Given the description of an element on the screen output the (x, y) to click on. 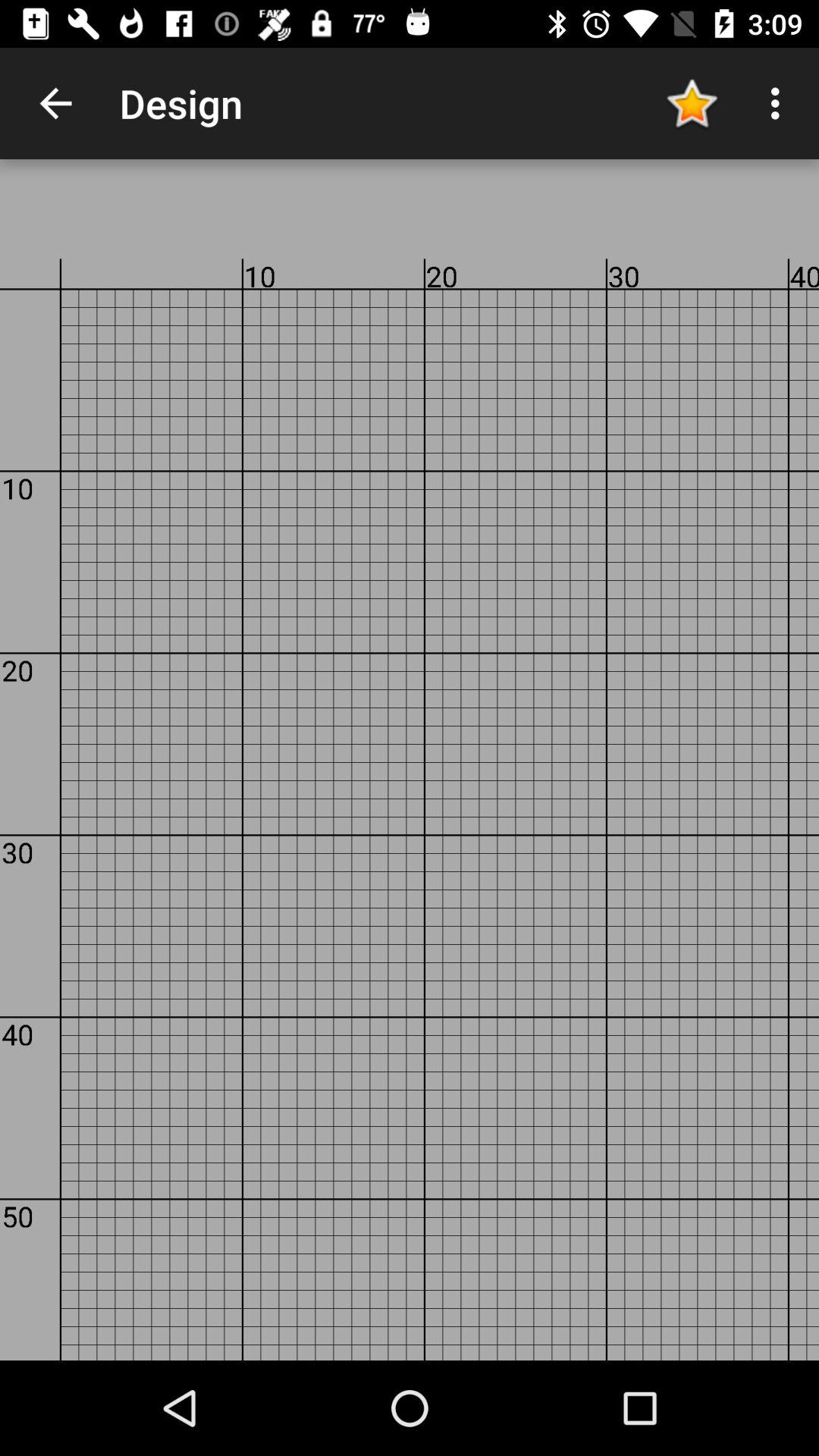
launch icon next to the design icon (55, 103)
